Given the description of an element on the screen output the (x, y) to click on. 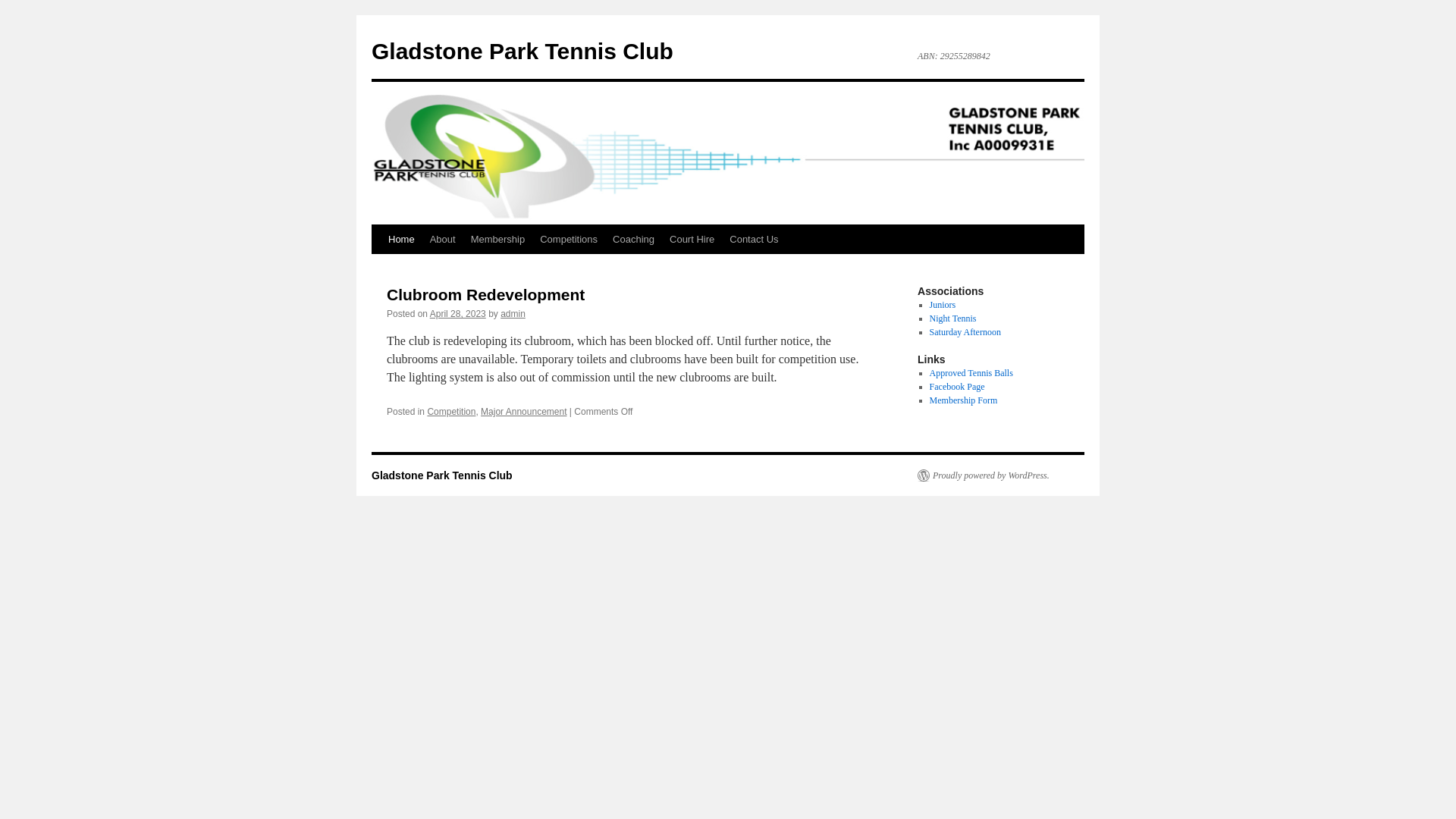
Membership Form Element type: text (963, 400)
Home Element type: text (401, 239)
Saturday Afternoon Element type: text (965, 331)
Juniors Element type: text (942, 304)
About Element type: text (442, 239)
Approved Tennis Balls Element type: text (971, 372)
admin Element type: text (512, 313)
Court Hire Element type: text (691, 239)
Membership Element type: text (498, 239)
Major Announcement Element type: text (523, 411)
Contact Us Element type: text (753, 239)
Clubroom Redevelopment Element type: text (485, 294)
Competition Element type: text (450, 411)
April 28, 2023 Element type: text (457, 313)
Competitions Element type: text (568, 239)
Skip to content Element type: text (377, 267)
Night Tennis Element type: text (952, 318)
Facebook Page Element type: text (957, 386)
Gladstone Park Tennis Club Element type: text (522, 50)
Proudly powered by WordPress. Element type: text (983, 475)
Gladstone Park Tennis Club Element type: text (441, 475)
Coaching Element type: text (633, 239)
